Given the description of an element on the screen output the (x, y) to click on. 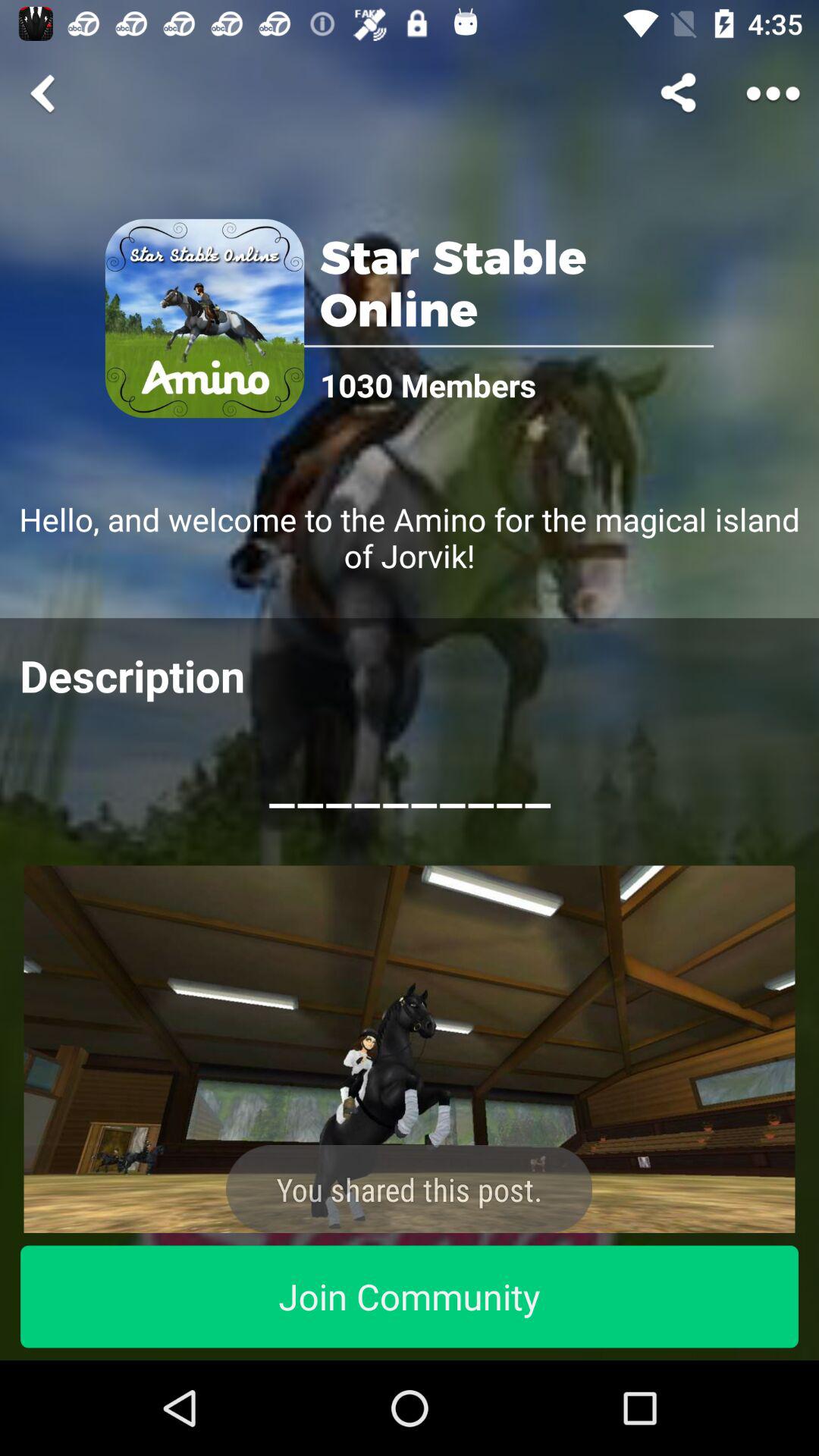
click to more options (773, 93)
